Given the description of an element on the screen output the (x, y) to click on. 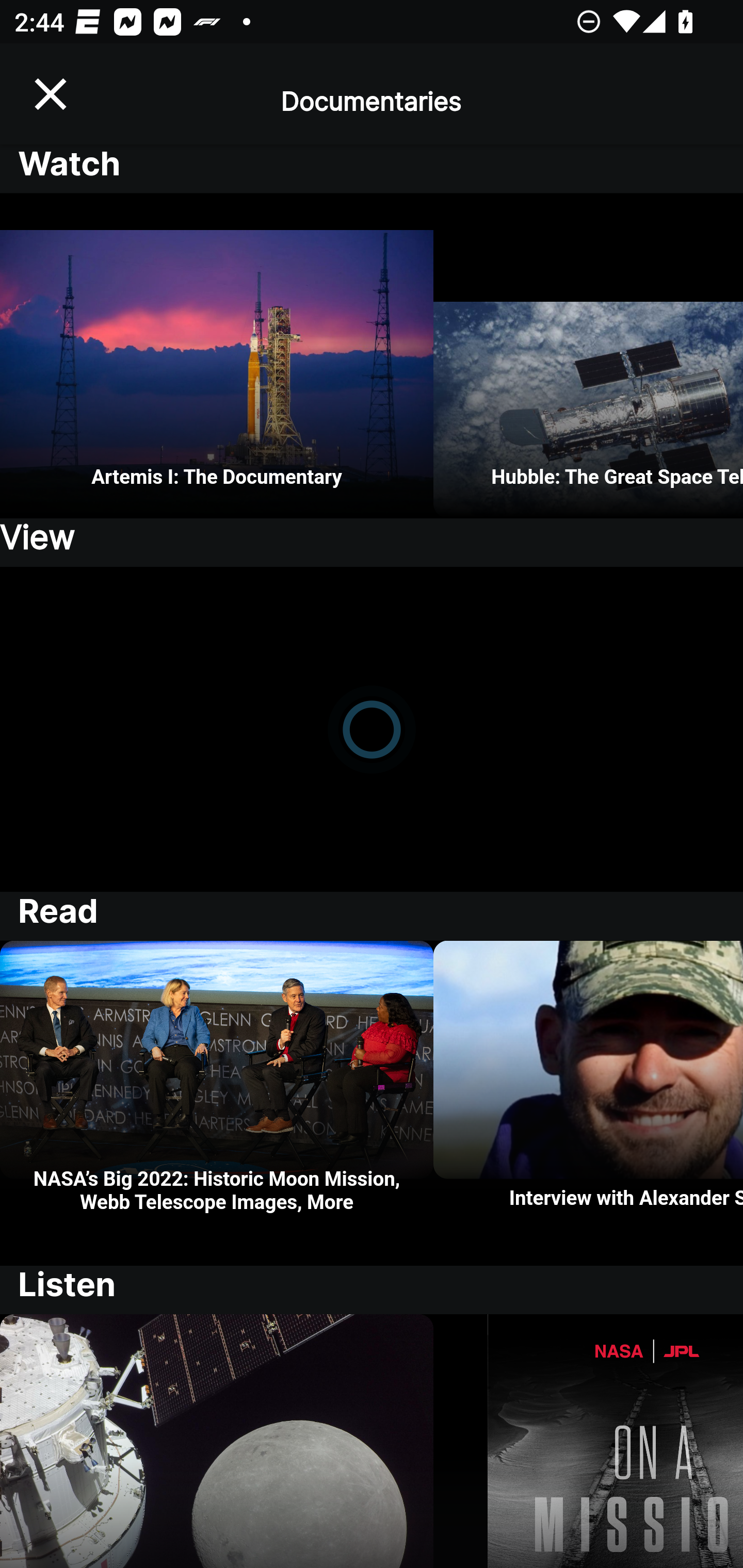
Artemis I: The Documentary (216, 355)
Hubble: The Great Space Telescope (588, 355)
Interview with Alexander Sehlke (588, 1102)
Evolving Artemis Mission Operations (216, 1440)
Season 3, Episode 9: Life Bound (588, 1440)
